Given the description of an element on the screen output the (x, y) to click on. 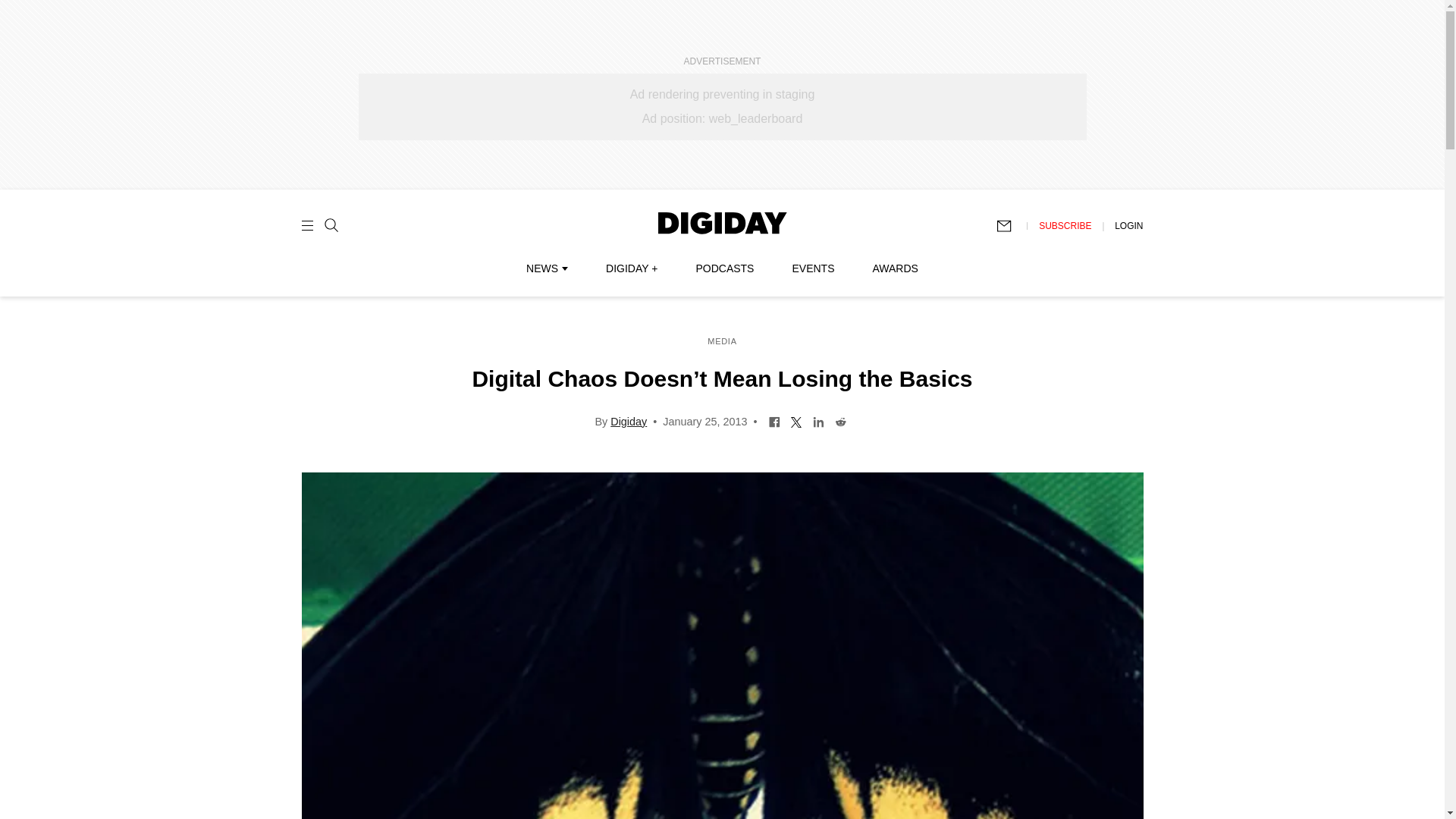
Share on LinkedIn (818, 420)
Share on Twitter (796, 420)
PODCASTS (725, 267)
Share on Reddit (840, 420)
EVENTS (813, 267)
LOGIN (1128, 225)
AWARDS (894, 267)
NEWS (546, 267)
Share on Facebook (774, 420)
SUBSCRIBE (1064, 225)
